Given the description of an element on the screen output the (x, y) to click on. 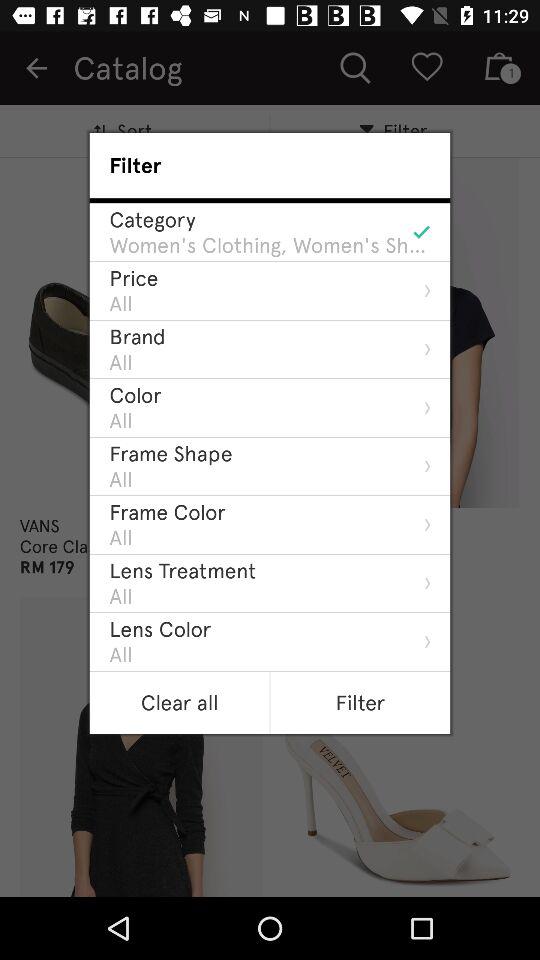
tap the lens treatment (182, 570)
